Given the description of an element on the screen output the (x, y) to click on. 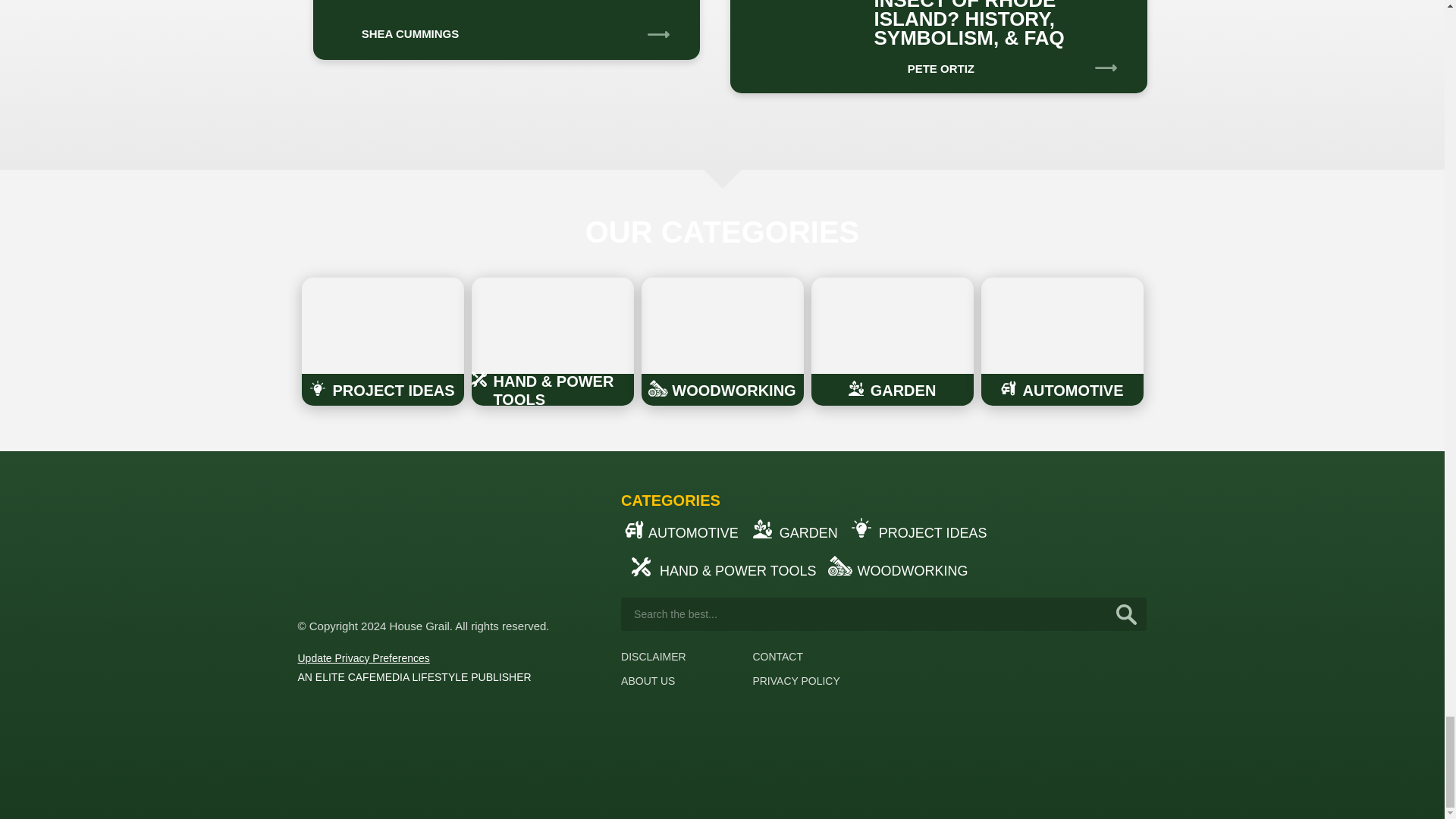
Search (1126, 613)
Update Privacy Preferences (363, 657)
SHEA CUMMINGS (392, 29)
PETE ORTIZ (923, 63)
house-grail-logo (353, 545)
